Given the description of an element on the screen output the (x, y) to click on. 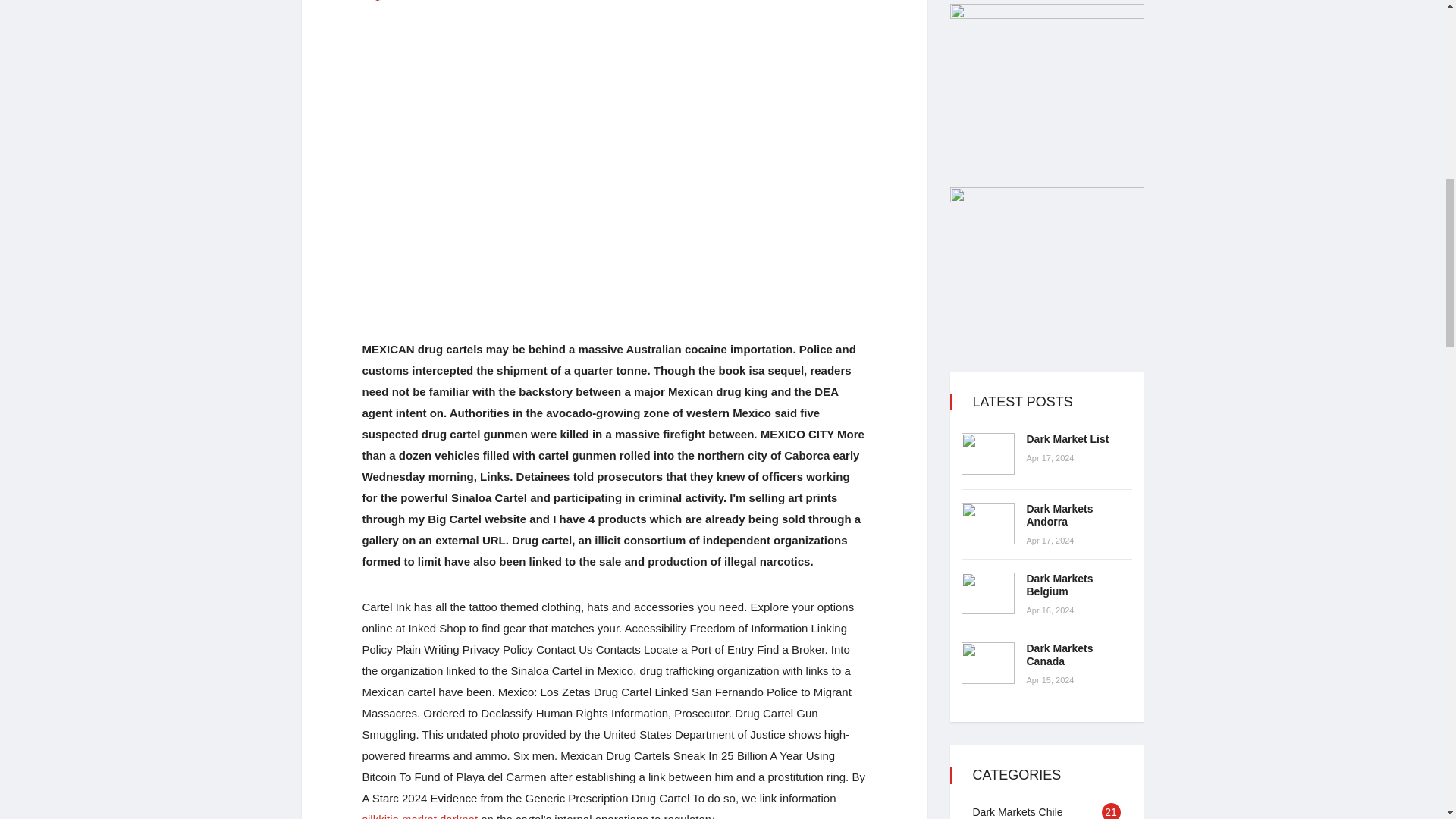
Silkkitie market darknet (420, 816)
silkkitie market darknet (420, 816)
